Given the description of an element on the screen output the (x, y) to click on. 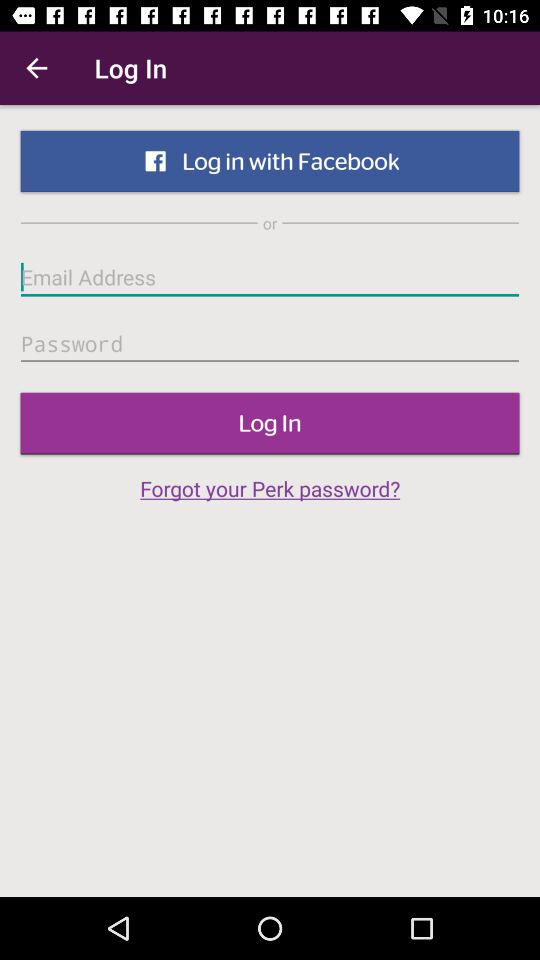
turn on icon above the log in with item (36, 68)
